Given the description of an element on the screen output the (x, y) to click on. 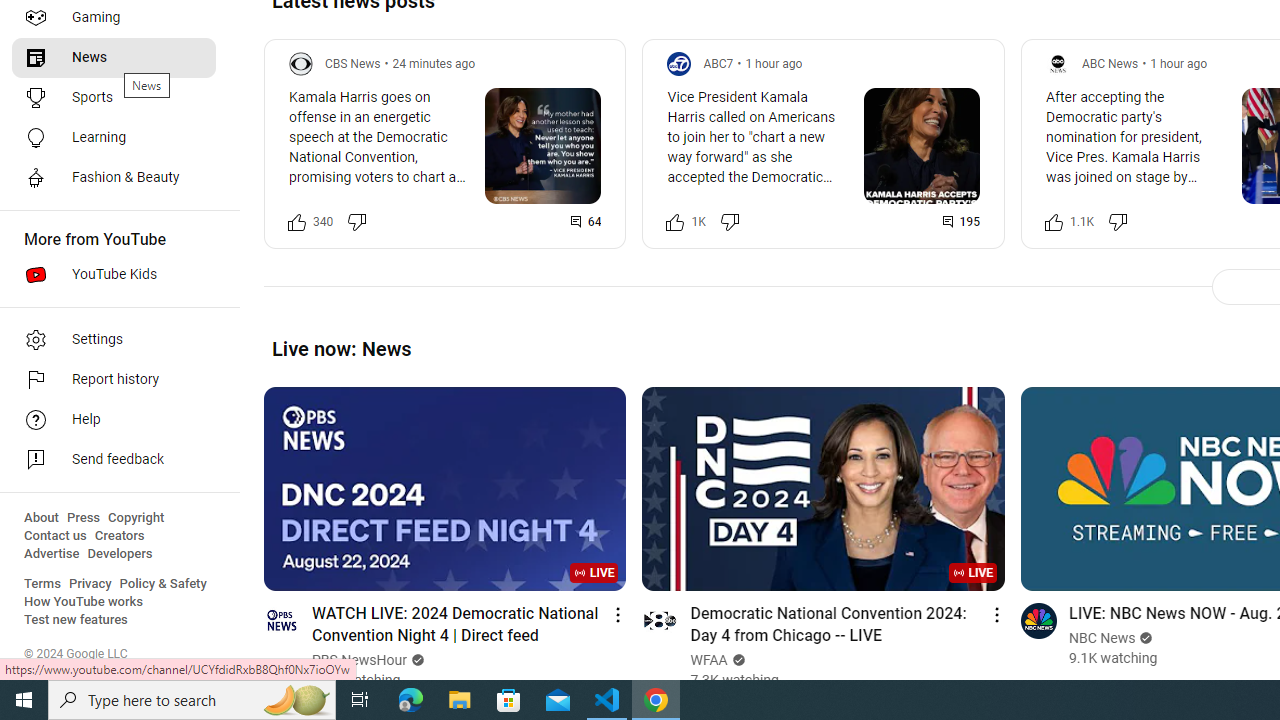
Like this post along with 340 other people (297, 221)
Learning (113, 137)
Contact us (55, 536)
CBS News (353, 63)
Copyright (136, 518)
Fashion & Beauty (113, 177)
News (113, 57)
Like this post along with 1,006 other people (675, 221)
Creators (118, 536)
How YouTube works (83, 602)
Policy & Safety (163, 584)
Sports (113, 97)
WFAA (709, 660)
